Given the description of an element on the screen output the (x, y) to click on. 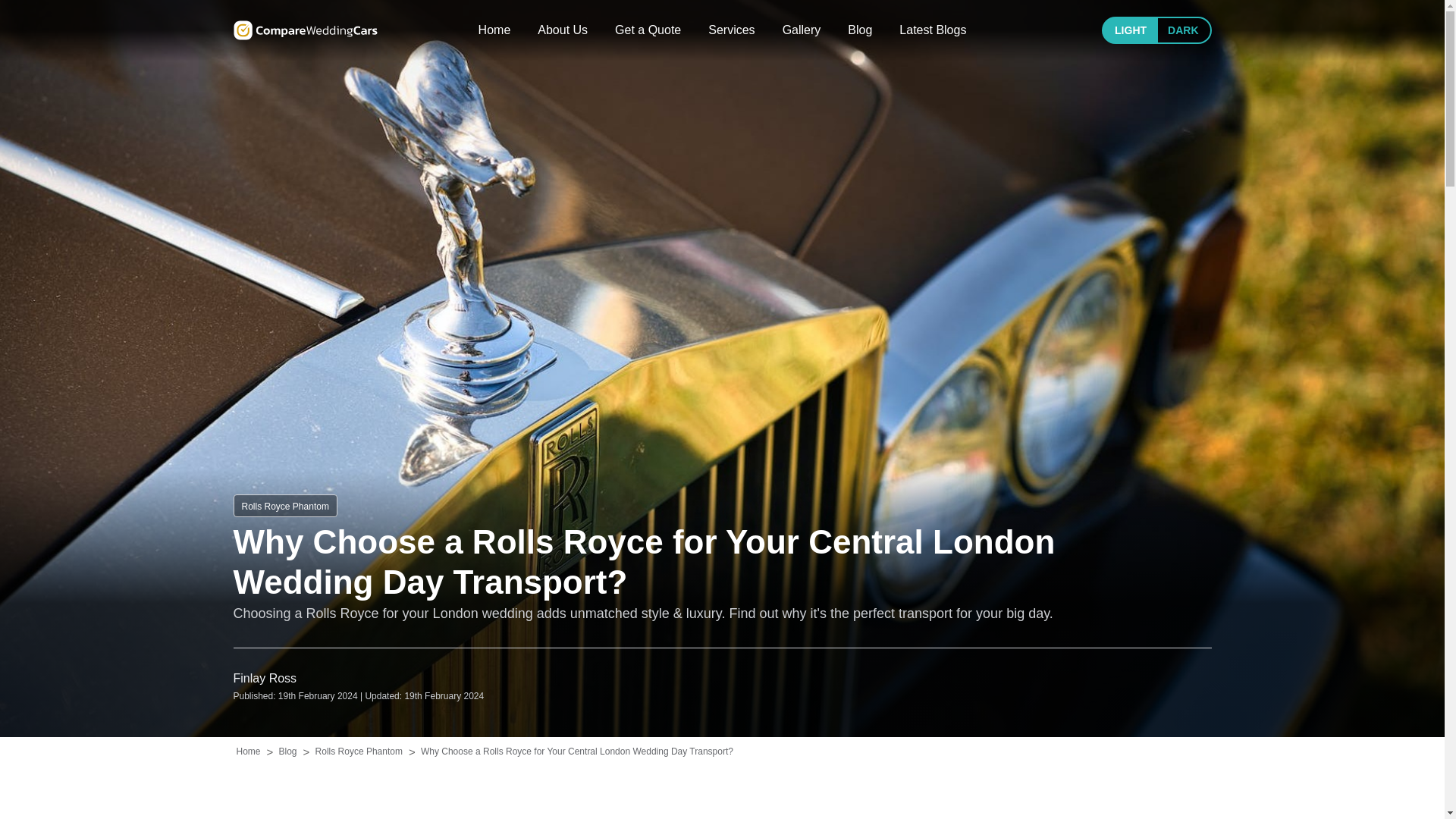
About Us (562, 30)
Get a Quote (647, 30)
Services (730, 30)
Latest Blogs (932, 30)
Latest Blogs (932, 30)
Blog (859, 30)
Gallery (802, 30)
Compare Wedding Cars (304, 29)
Home (495, 30)
Blog (859, 30)
About Us (562, 30)
Get a Quote (647, 30)
Services (730, 30)
Home (495, 30)
Gallery (802, 30)
